Given the description of an element on the screen output the (x, y) to click on. 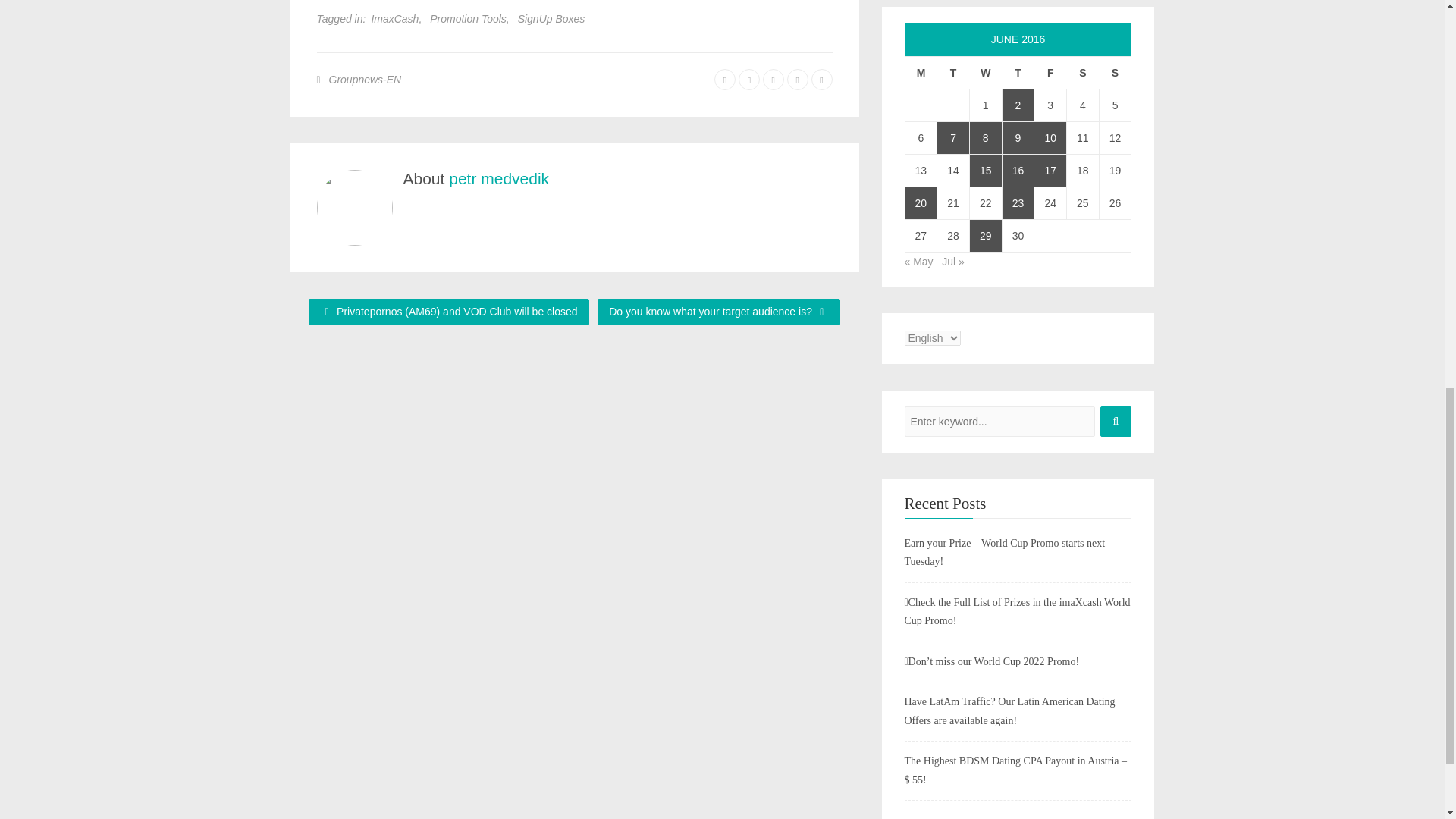
Thursday (1017, 72)
2 (1018, 105)
17 (1049, 170)
Wednesday (985, 72)
Saturday (1083, 72)
9 (1018, 137)
petr medvedik (498, 178)
29 (985, 235)
10 (1049, 137)
7 (953, 137)
Groupnews-EN (365, 78)
ImaxCash (395, 18)
16 (1018, 170)
20 (921, 203)
Sunday (1115, 72)
